Given the description of an element on the screen output the (x, y) to click on. 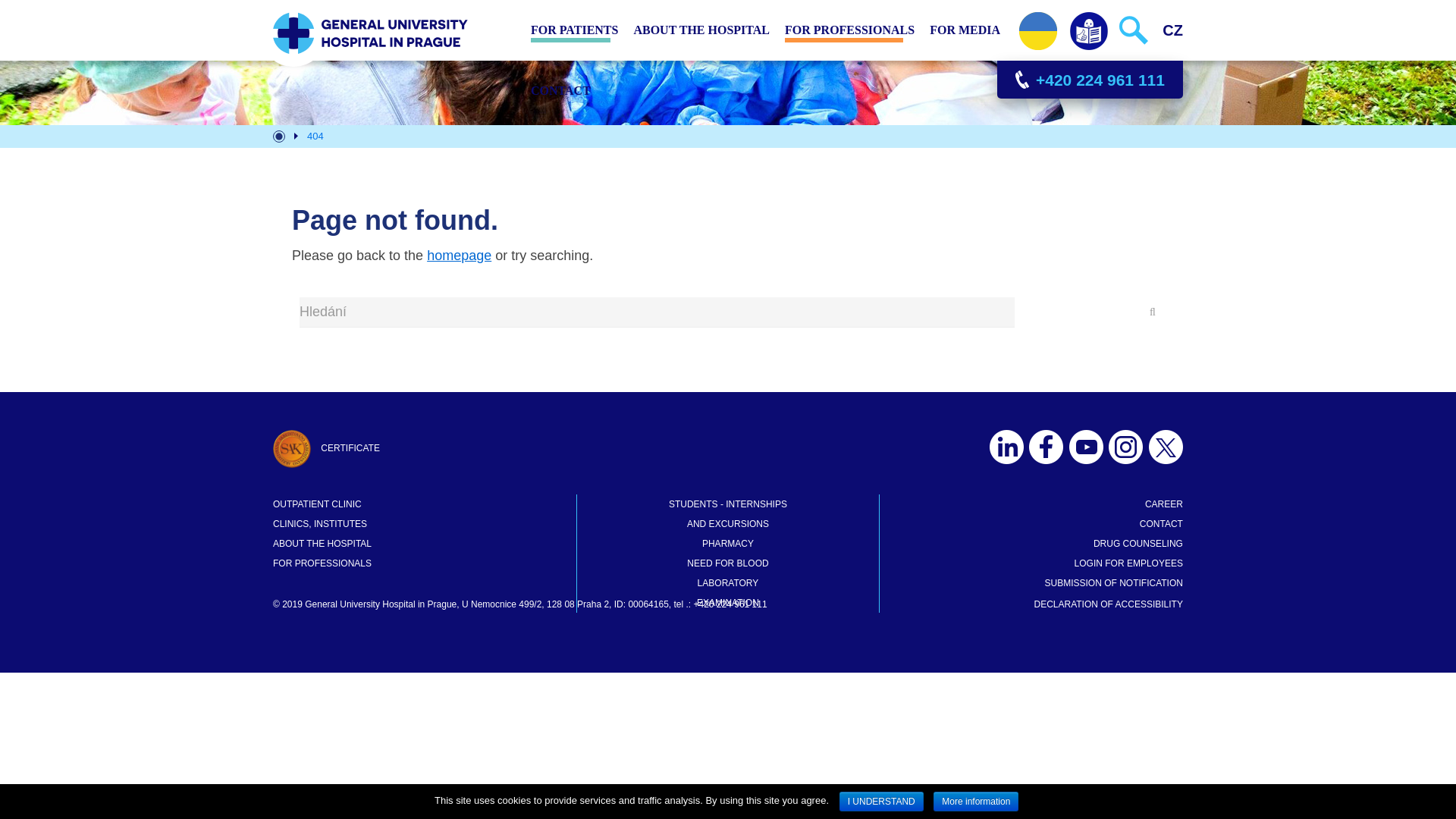
CONTACT (560, 90)
homepage (459, 255)
ABOUT THE HOSPITAL (701, 30)
CERTIFICATE (326, 448)
FOR PROFESSIONALS (849, 30)
CZ (1171, 30)
FOR PATIENTS (574, 30)
FOR MEDIA (964, 30)
